Given the description of an element on the screen output the (x, y) to click on. 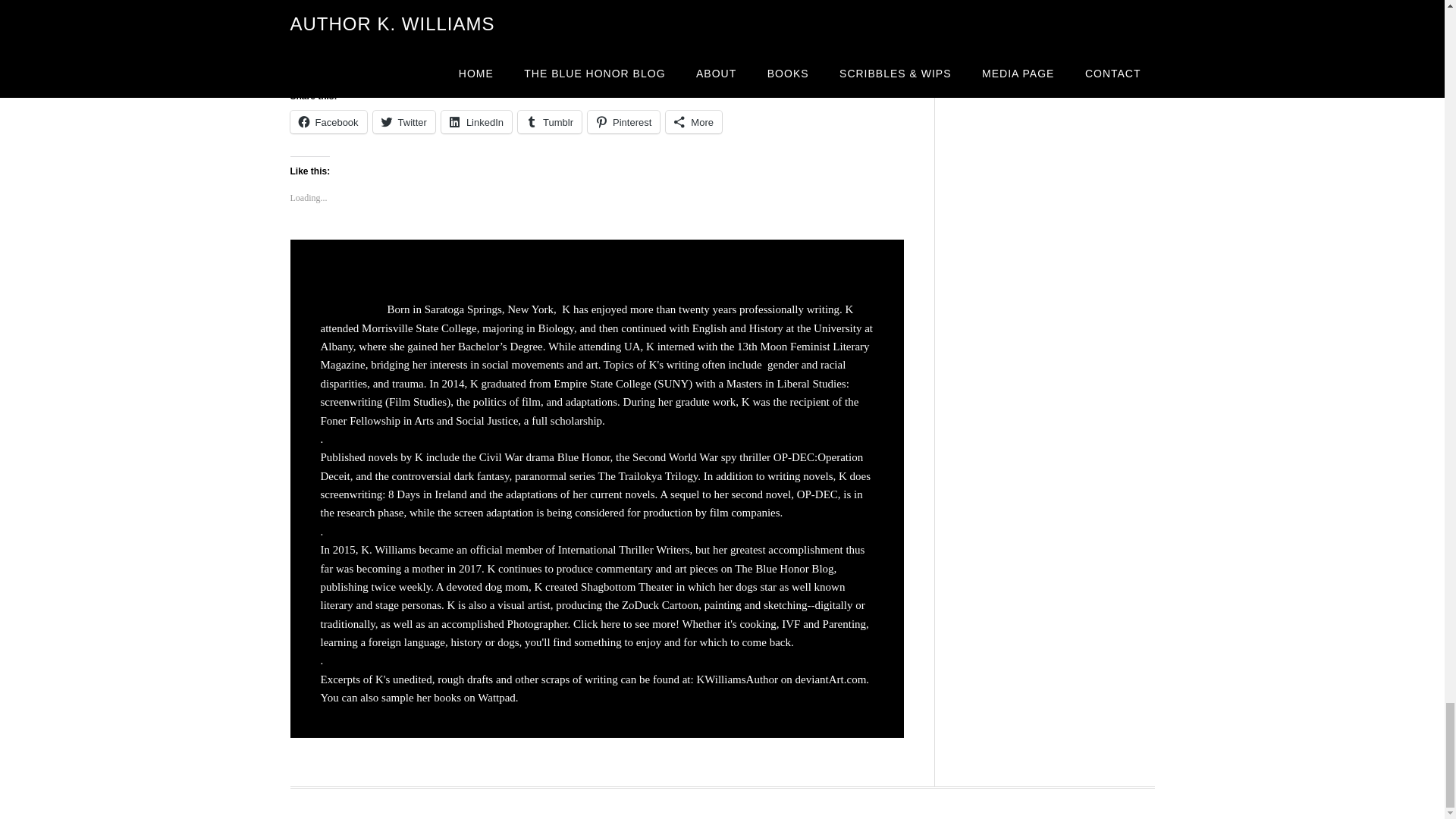
the online companion (405, 48)
Click to share on Facebook (327, 121)
Click to share on LinkedIn (476, 121)
Click to share on Tumblr (549, 121)
Click to share on Pinterest (623, 121)
purchase a copy of the first installment (600, 48)
Click to share on Twitter (403, 121)
